Given the description of an element on the screen output the (x, y) to click on. 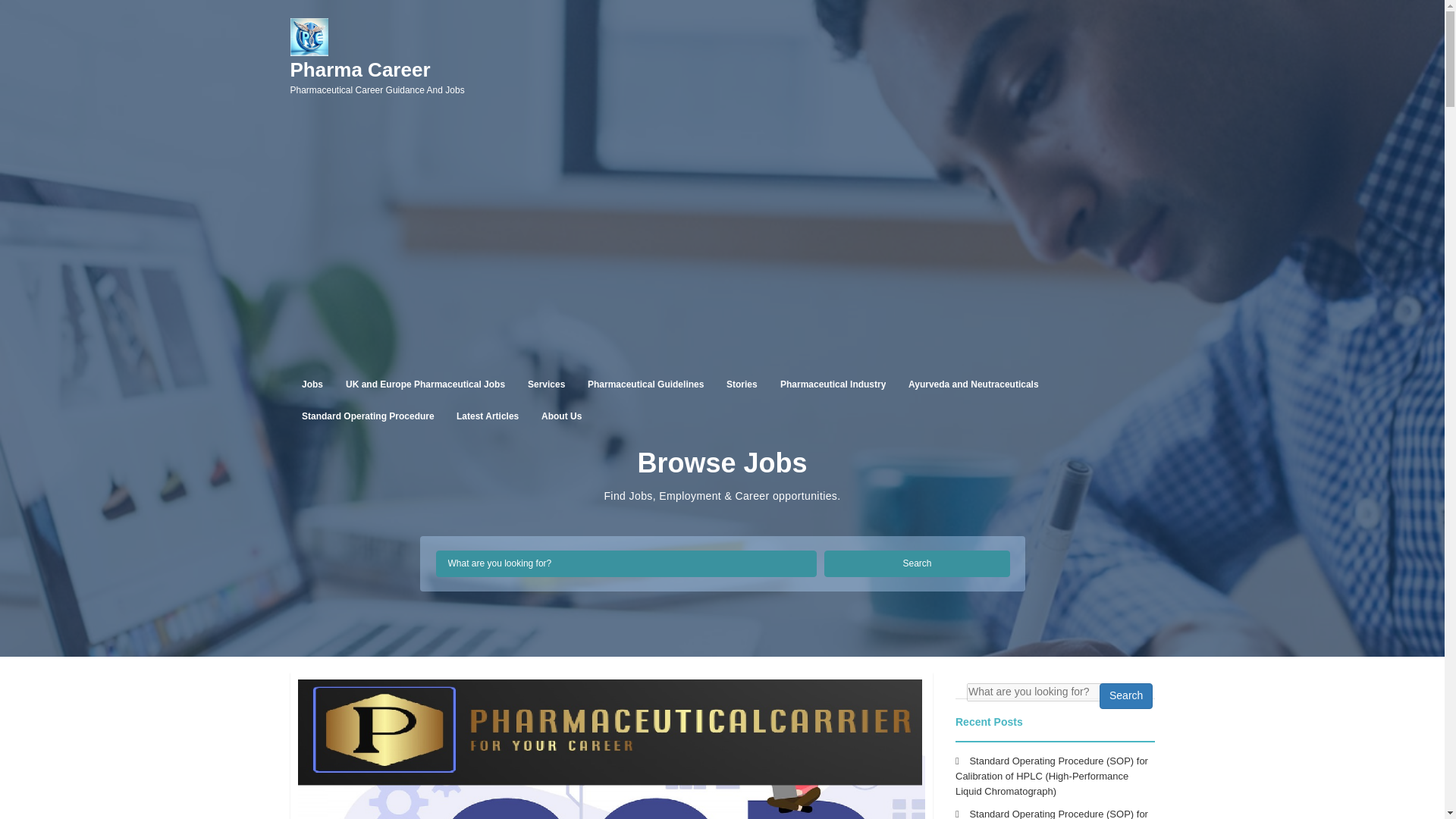
Pharmaceutical Guidelines (645, 384)
Pharmaceutical Industry (832, 384)
About Us (560, 416)
Services (545, 384)
Stories (741, 384)
UK and Europe Pharmaceutical Jobs (376, 77)
Latest Articles (425, 384)
Search (487, 416)
Advertisement (917, 563)
